Given the description of an element on the screen output the (x, y) to click on. 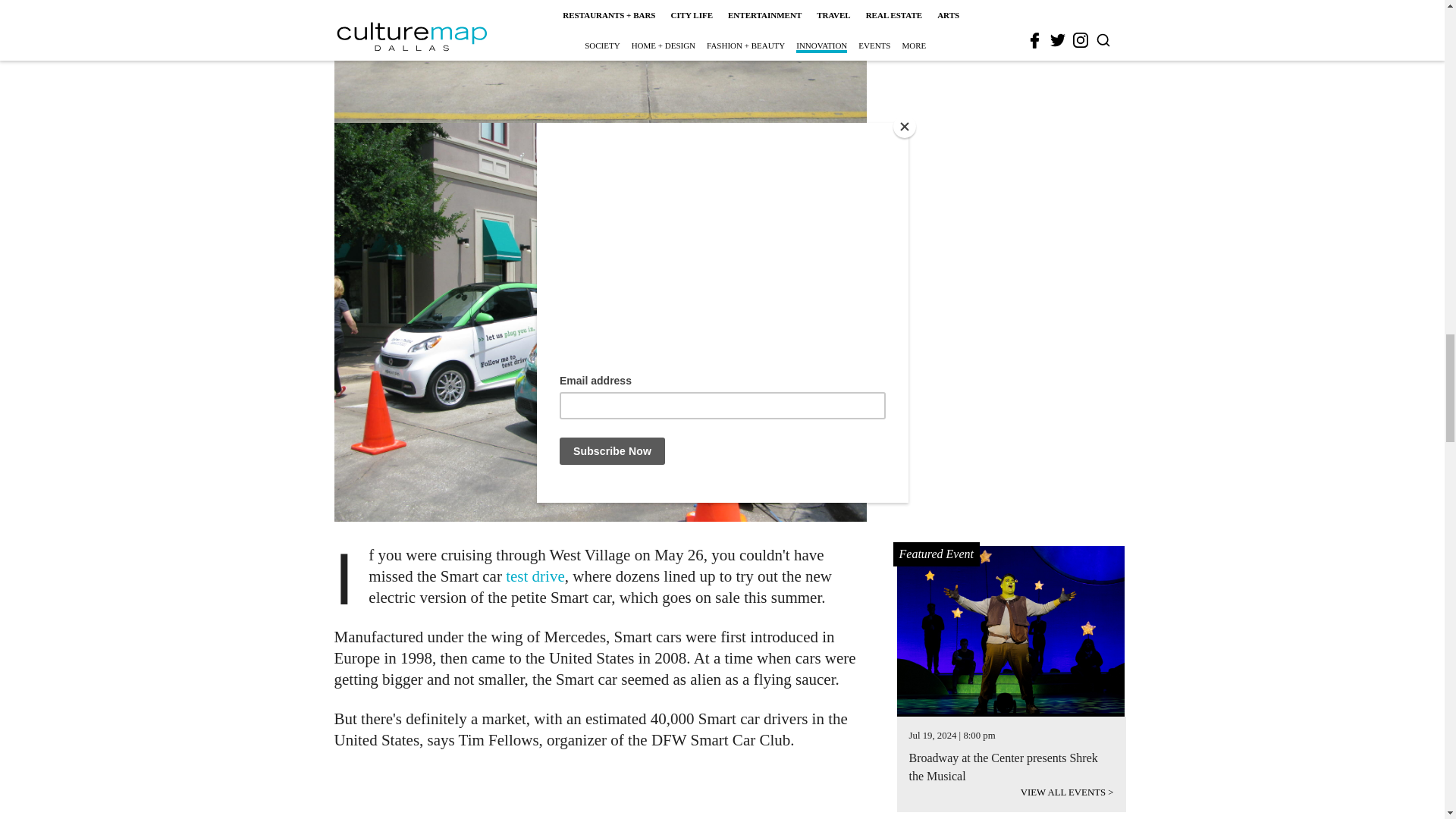
3rd party ad content (600, 794)
